Given the description of an element on the screen output the (x, y) to click on. 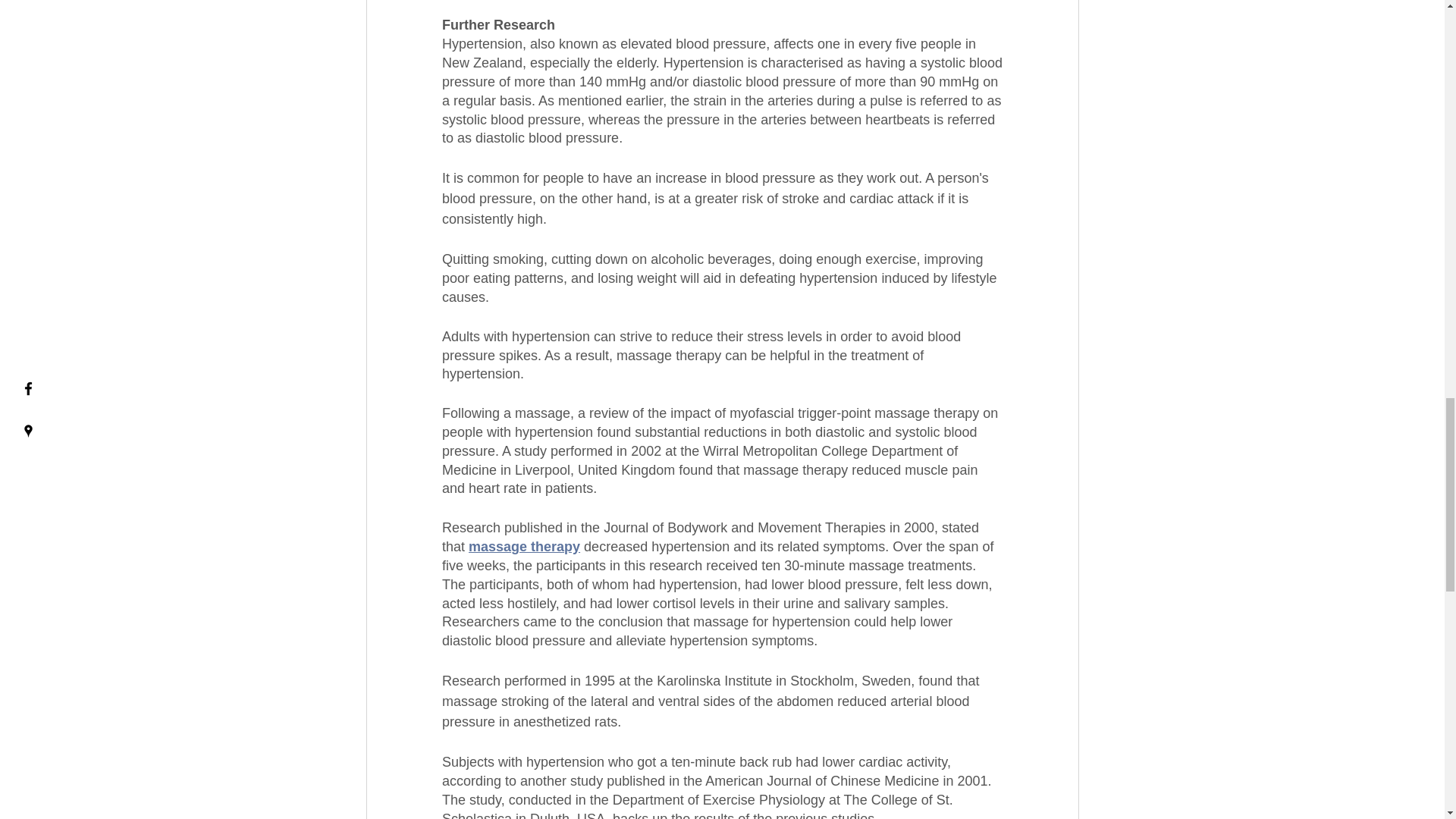
massage therapy (523, 546)
